Given the description of an element on the screen output the (x, y) to click on. 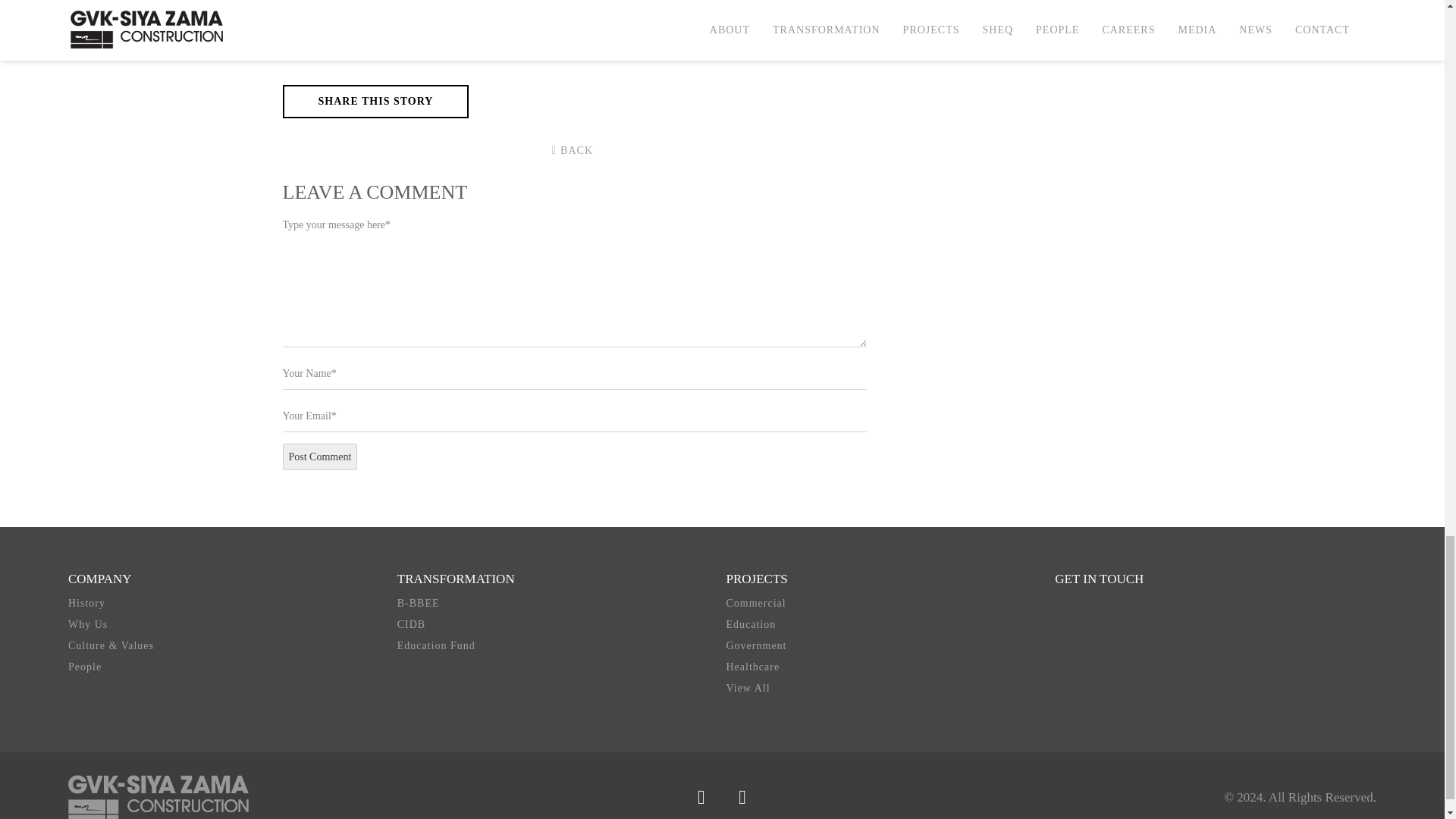
Post Comment (319, 456)
SHARE THIS STORY (375, 101)
